Given the description of an element on the screen output the (x, y) to click on. 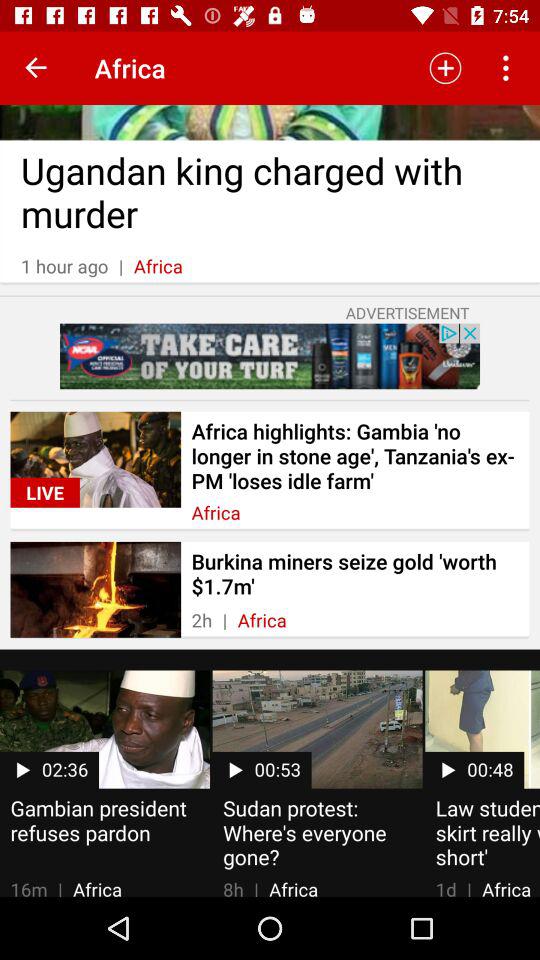
tap the icon to the right of africa icon (444, 67)
